Given the description of an element on the screen output the (x, y) to click on. 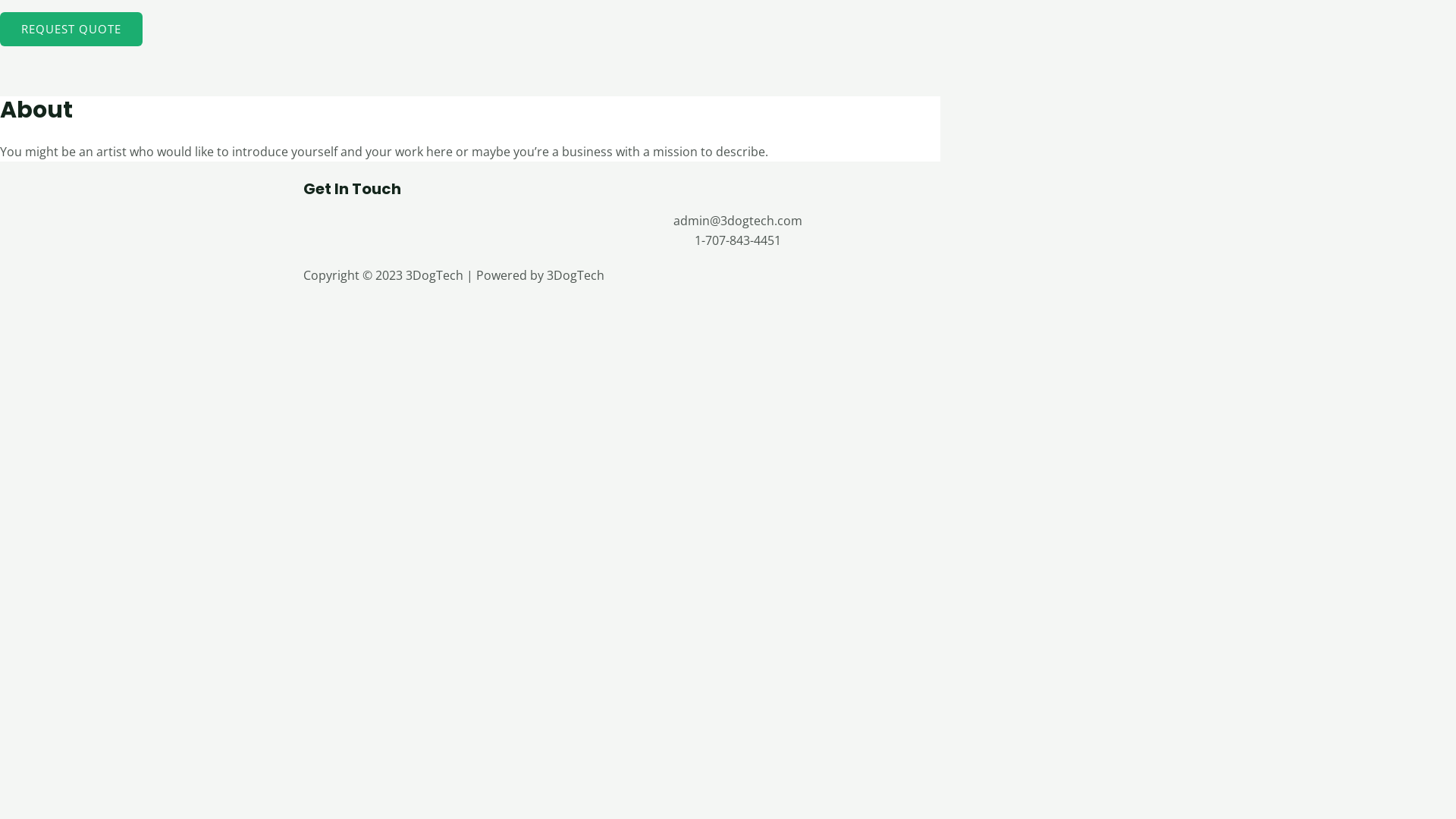
REQUEST QUOTE Element type: text (71, 29)
